Given the description of an element on the screen output the (x, y) to click on. 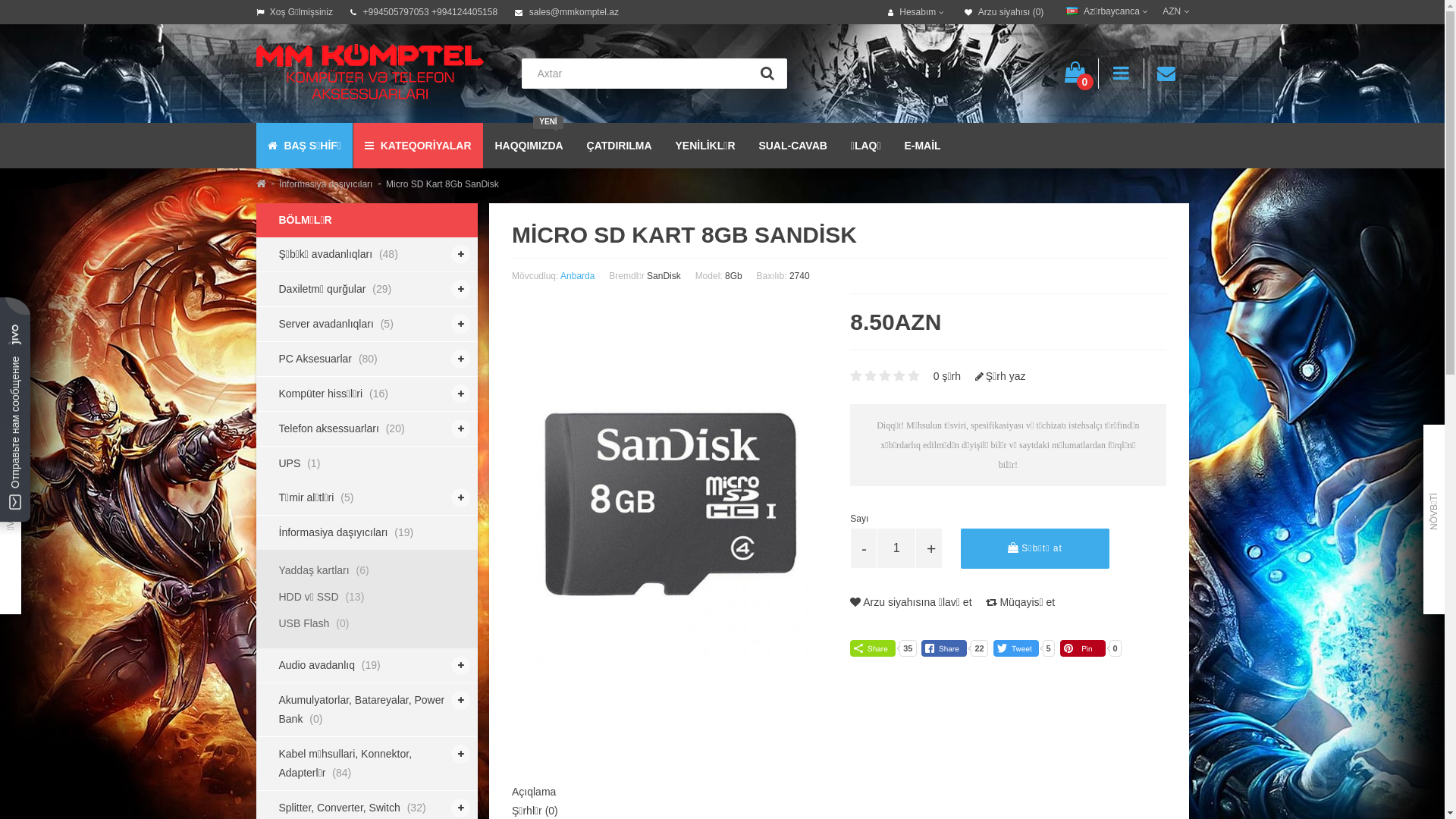
YENI
HAQQIMIZDA Element type: text (528, 145)
Micro SD Kart 8Gb SanDisk Element type: hover (669, 503)
PC Aksesuarlar (80) Element type: text (367, 359)
E-MAIL Element type: text (921, 145)
MM Komptel Element type: hover (369, 71)
AZN Element type: text (1167, 11)
KATEQORIYALAR Element type: text (418, 145)
sales@mmkomptel.az Element type: text (566, 11)
0 Element type: text (1075, 73)
+994505797053 +994124405158 Element type: text (423, 11)
Akumulyatorlar, Batareyalar, Power Bank (0) Element type: text (367, 710)
Micro SD Kart 8Gb SanDisk Element type: text (441, 183)
SUAL-CAVAB Element type: text (791, 145)
USB Flash (0) Element type: text (367, 623)
UPS (1) Element type: text (367, 463)
SanDisk Element type: text (663, 275)
